Given the description of an element on the screen output the (x, y) to click on. 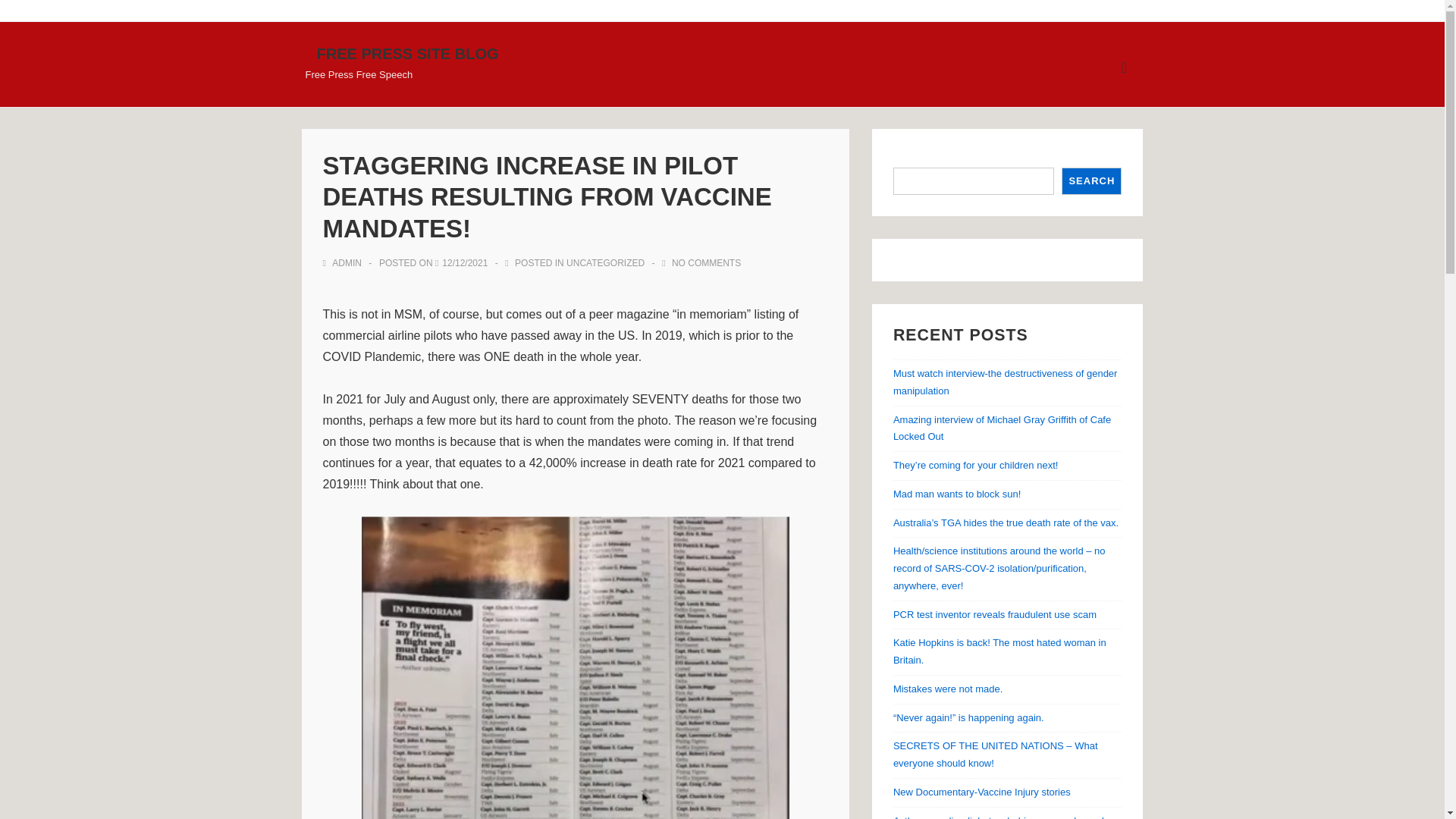
UNCATEGORIZED (605, 262)
SEARCH (1091, 180)
Mad man wants to block sun! (956, 493)
PCR test inventor reveals fraudulent use scam (994, 614)
Mistakes were not made. (948, 688)
Asthma, cardio, diabetes, babies, vax and more! (998, 816)
FREE PRESS SITE BLOG (408, 53)
ADMIN (344, 262)
New Documentary-Vaccine Injury stories (981, 791)
MENU (1123, 66)
Katie Hopkins is back! The most hated woman in Britain. (999, 651)
View all posts by admin (344, 262)
